Given the description of an element on the screen output the (x, y) to click on. 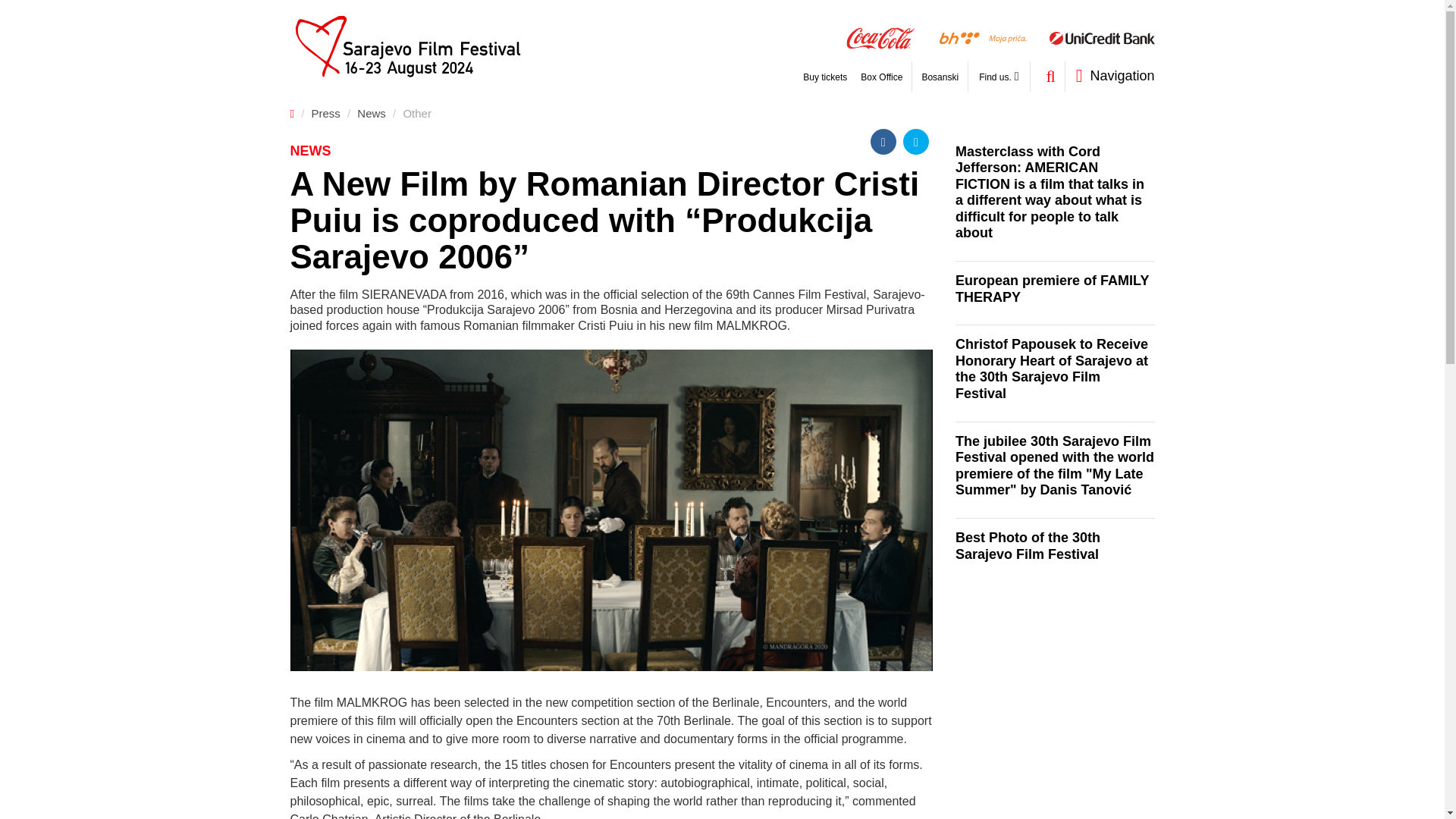
Buy tickets (825, 78)
Navigation (1109, 76)
Box Office (881, 78)
Bosanski (939, 78)
Find us. (995, 76)
